Given the description of an element on the screen output the (x, y) to click on. 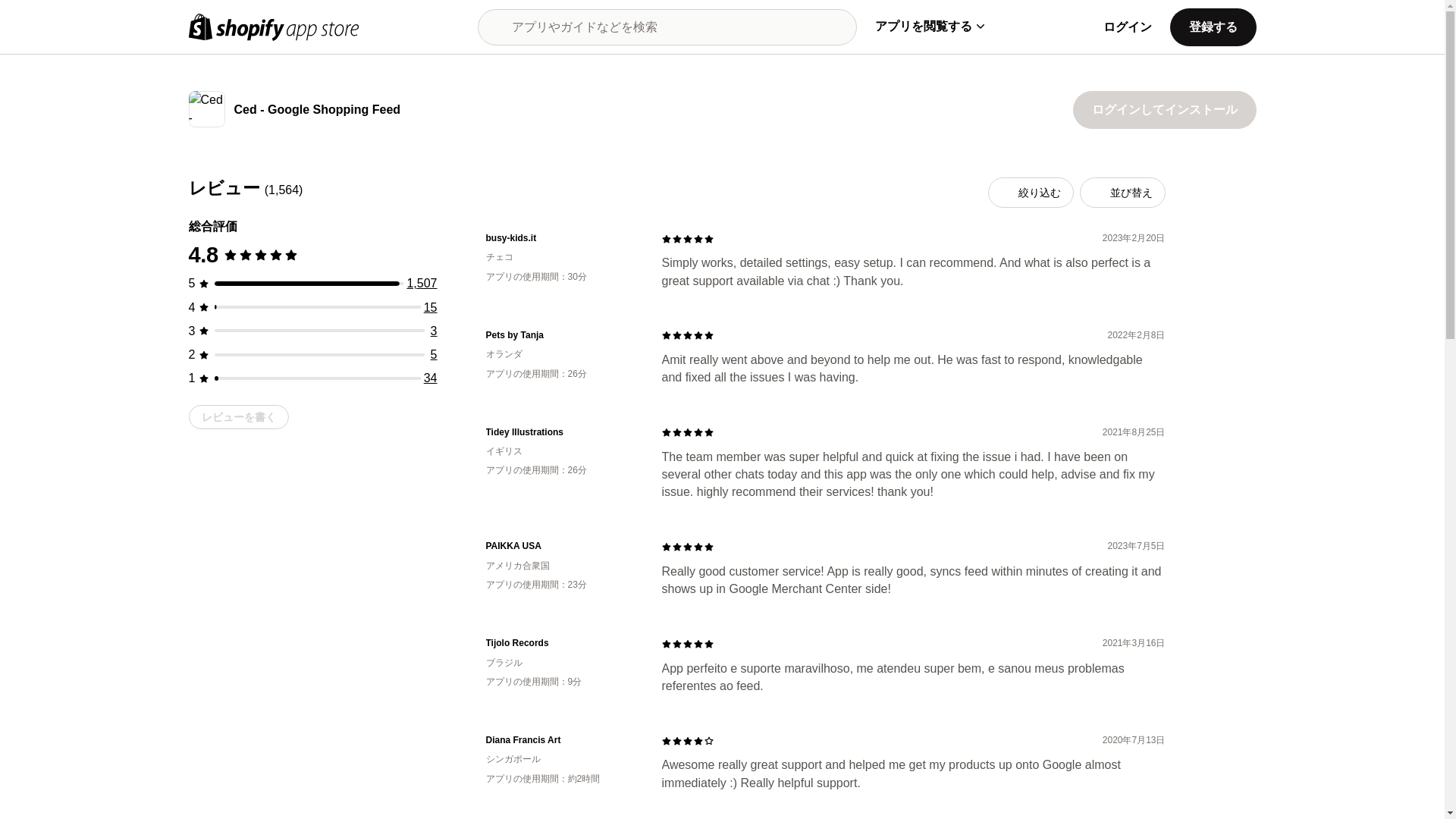
1,507 (421, 282)
Pets by Tanja (560, 335)
busy-kids.it (560, 237)
Tidey Illustrations  (560, 431)
15 (430, 307)
PAIKKA USA (560, 545)
Tijolo Records (560, 643)
34 (430, 377)
Diana Francis Art (560, 739)
